Given the description of an element on the screen output the (x, y) to click on. 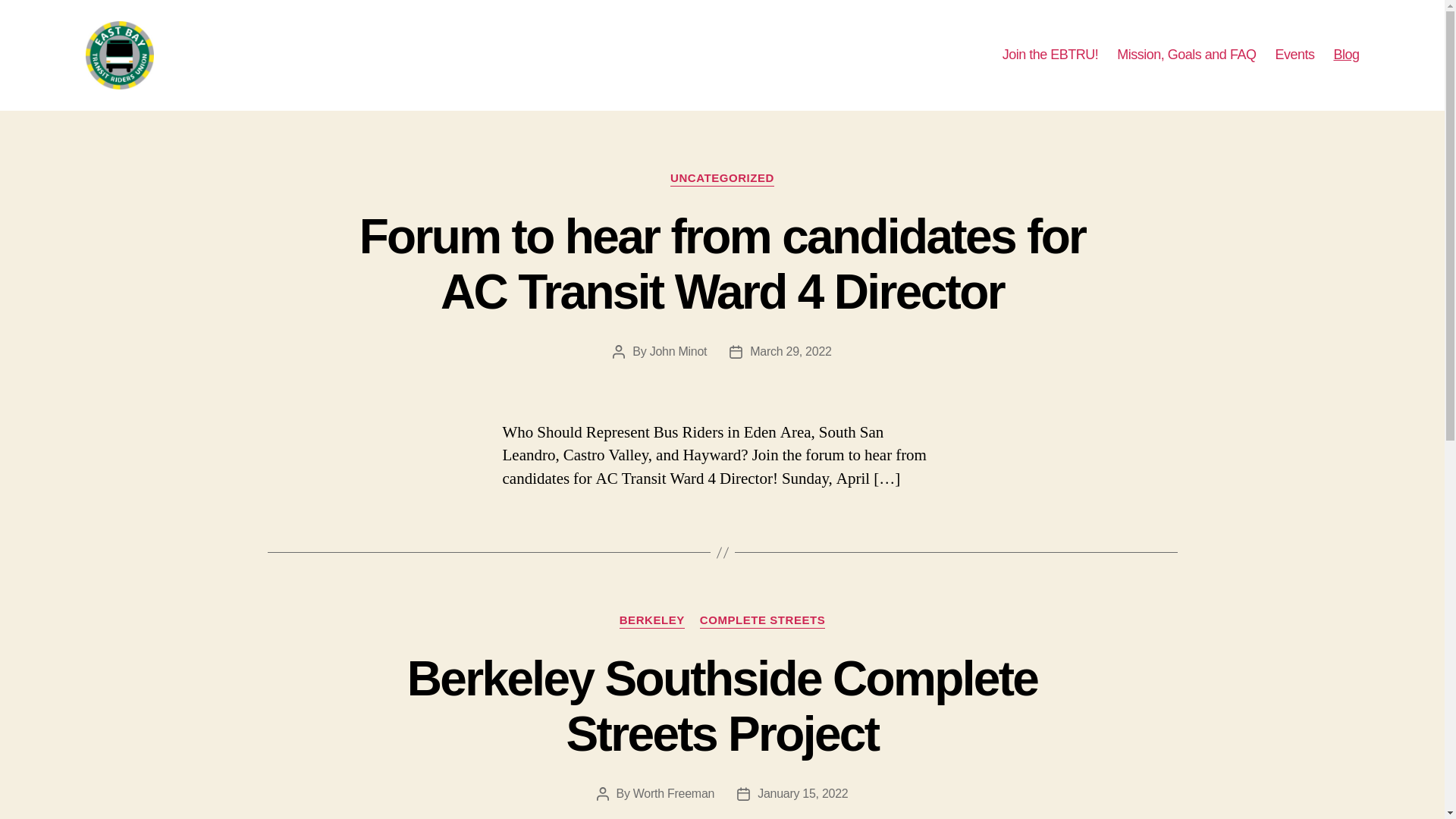
UNCATEGORIZED (721, 178)
January 15, 2022 (802, 793)
Berkeley Southside Complete Streets Project (722, 706)
BERKELEY (652, 620)
Blog (1345, 54)
Forum to hear from candidates for AC Transit Ward 4 Director (722, 264)
John Minot (678, 350)
Events (1294, 54)
Worth Freeman (673, 793)
COMPLETE STREETS (762, 620)
March 29, 2022 (790, 350)
Mission, Goals and FAQ (1185, 54)
Join the EBTRU! (1051, 54)
